Given the description of an element on the screen output the (x, y) to click on. 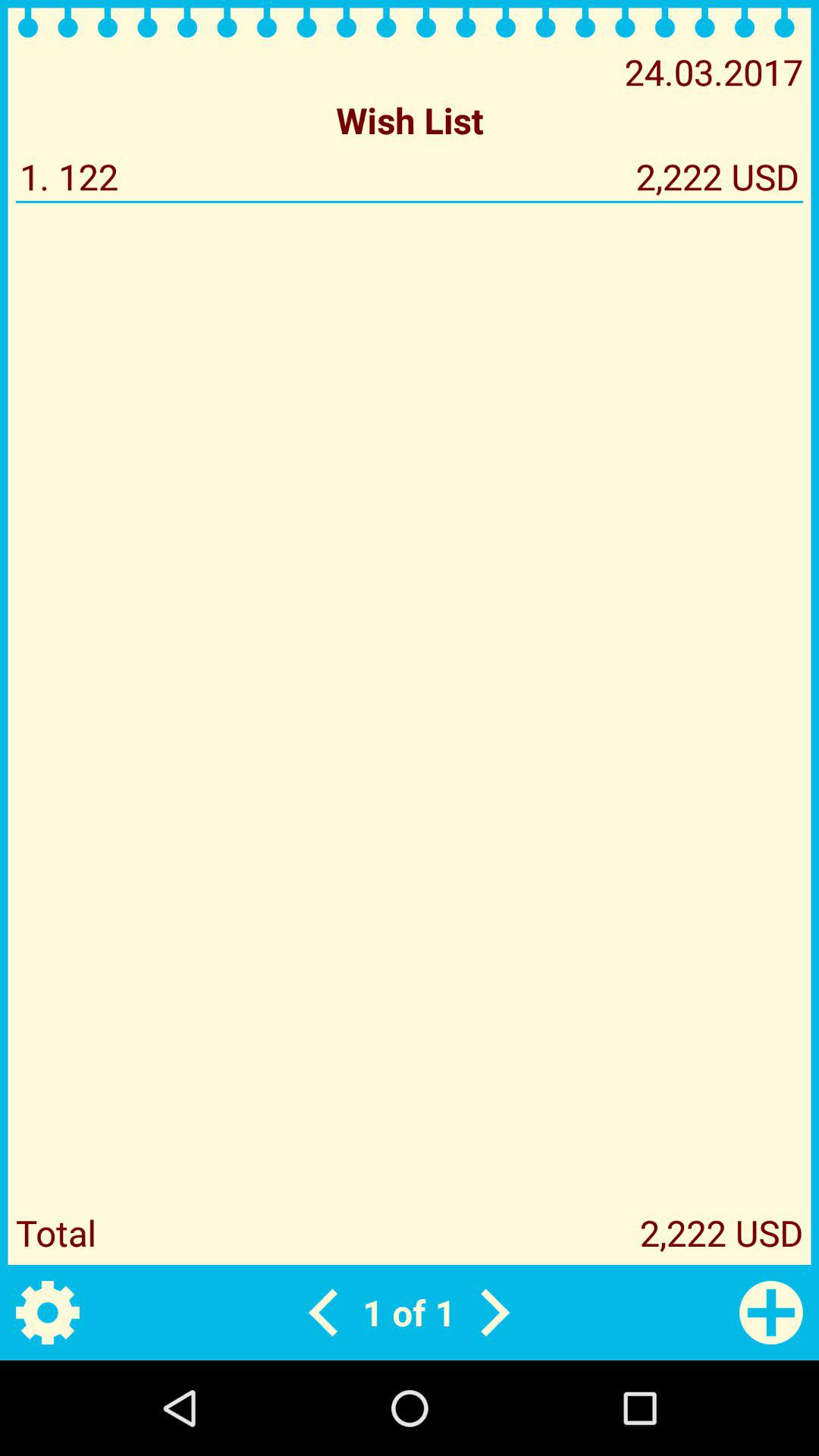
turn off the wish list (409, 120)
